Given the description of an element on the screen output the (x, y) to click on. 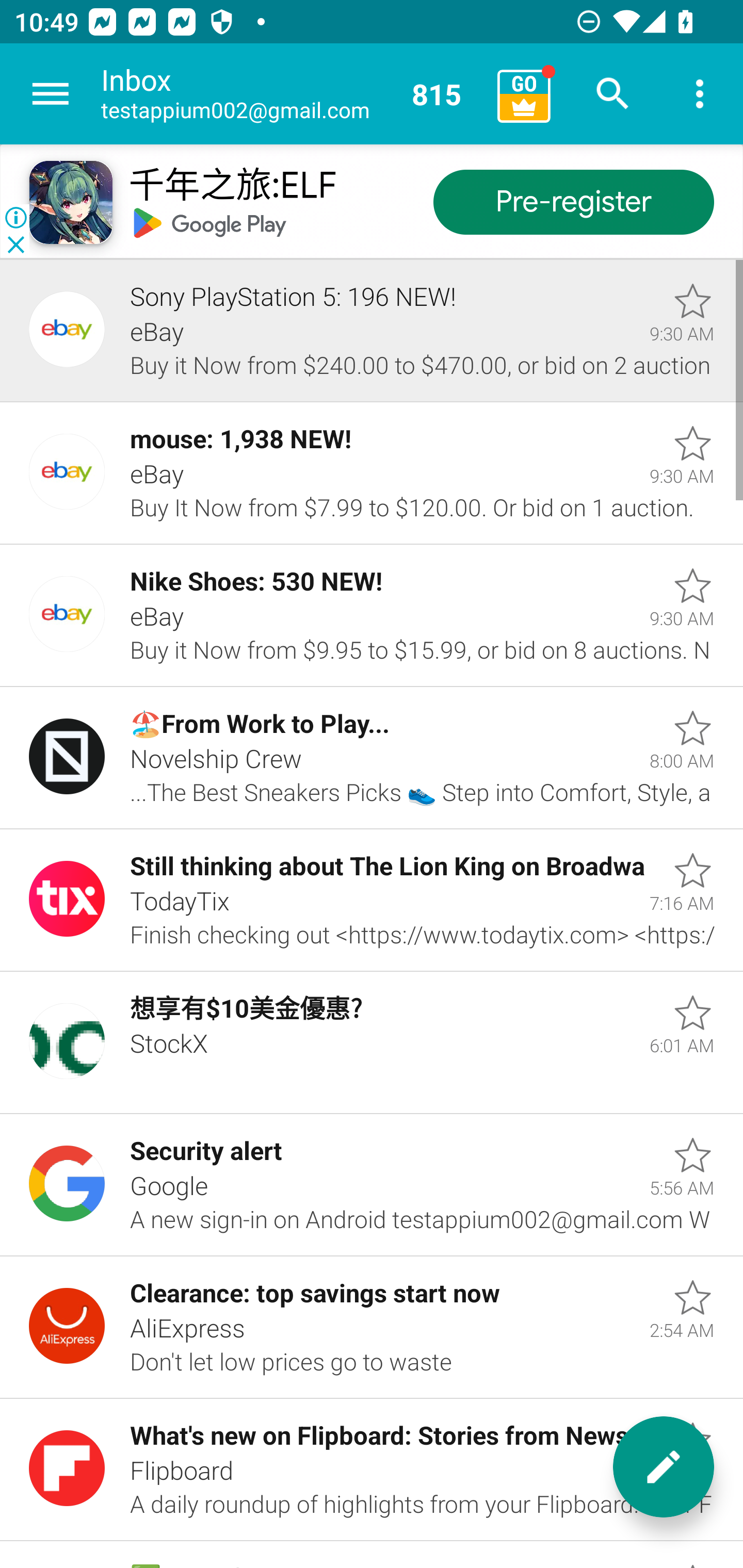
Navigate up (50, 93)
Inbox testappium002@gmail.com 815 (291, 93)
Search (612, 93)
More options (699, 93)
Unread, 想享有$10美金優惠?, StockX, 6:01 AM (371, 1043)
New message (663, 1466)
